Given the description of an element on the screen output the (x, y) to click on. 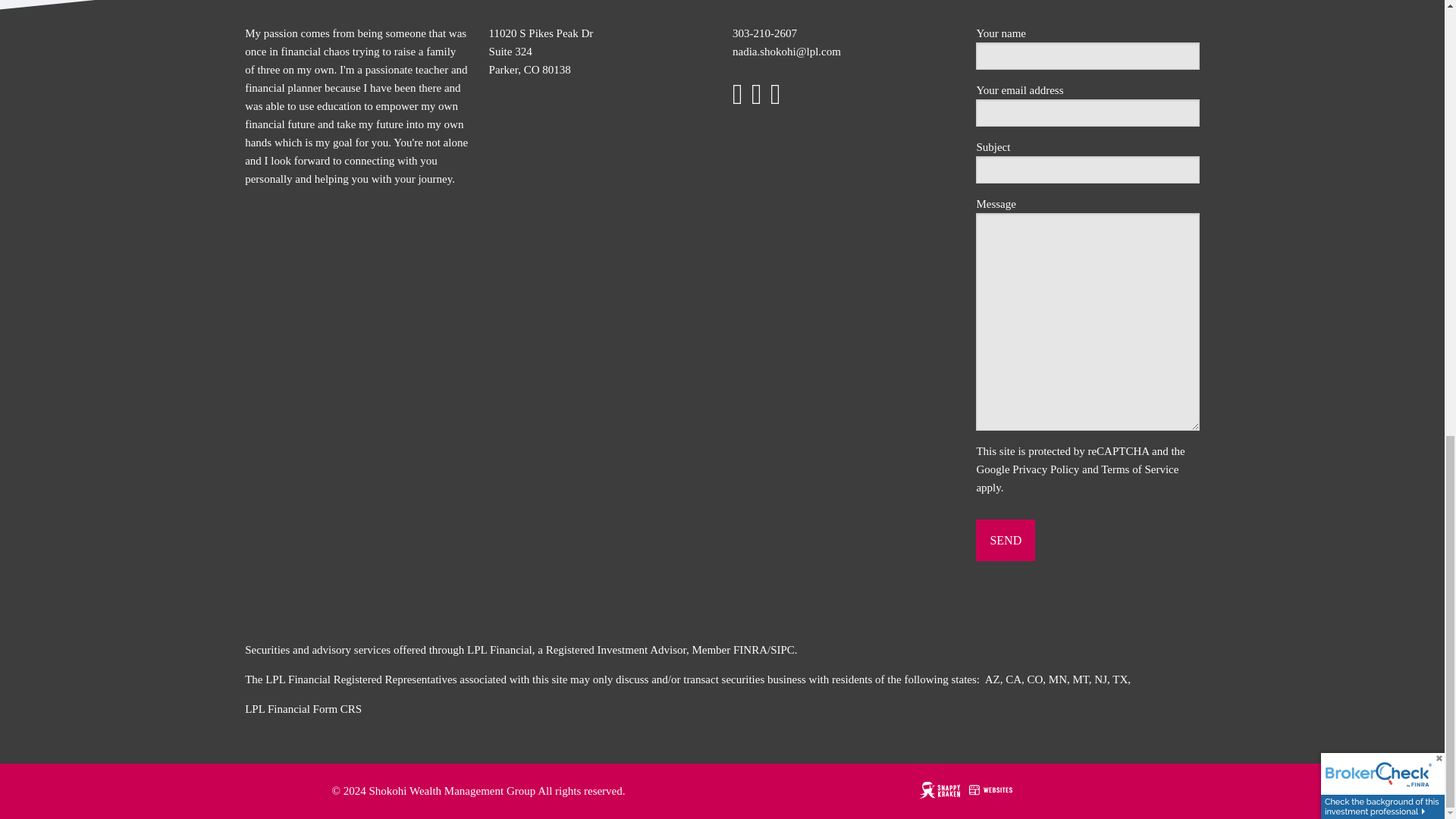
303-210-2607 (764, 33)
Send (1005, 540)
SIPC (782, 649)
Send (1005, 540)
Form CRS (337, 708)
FINRA (750, 649)
Terms of Service (1138, 469)
Privacy Policy (1044, 469)
